Given the description of an element on the screen output the (x, y) to click on. 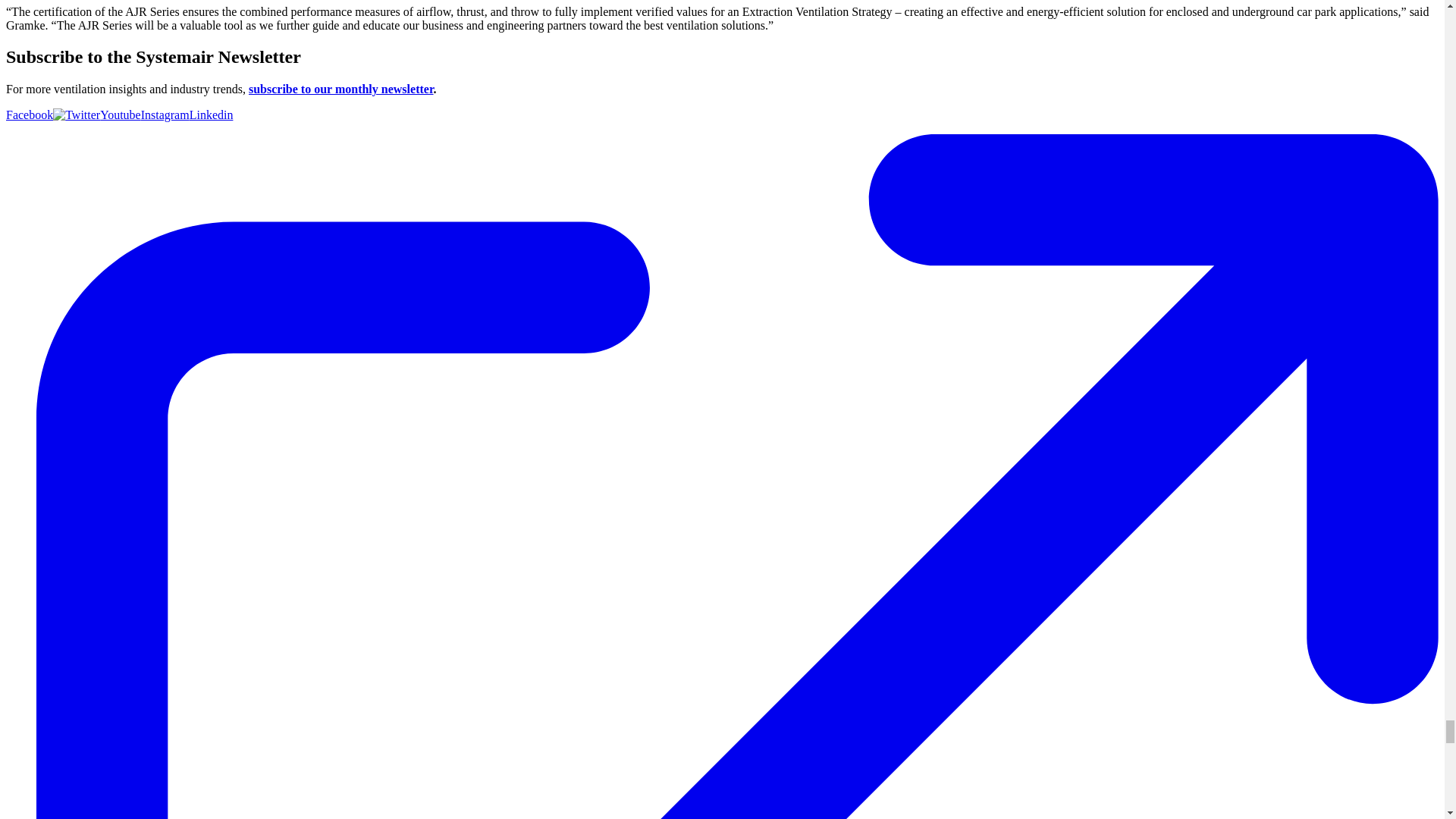
Facebook (28, 114)
Youtube (120, 114)
Instagram (165, 114)
Linkedin (210, 114)
Twitter (76, 114)
